Given the description of an element on the screen output the (x, y) to click on. 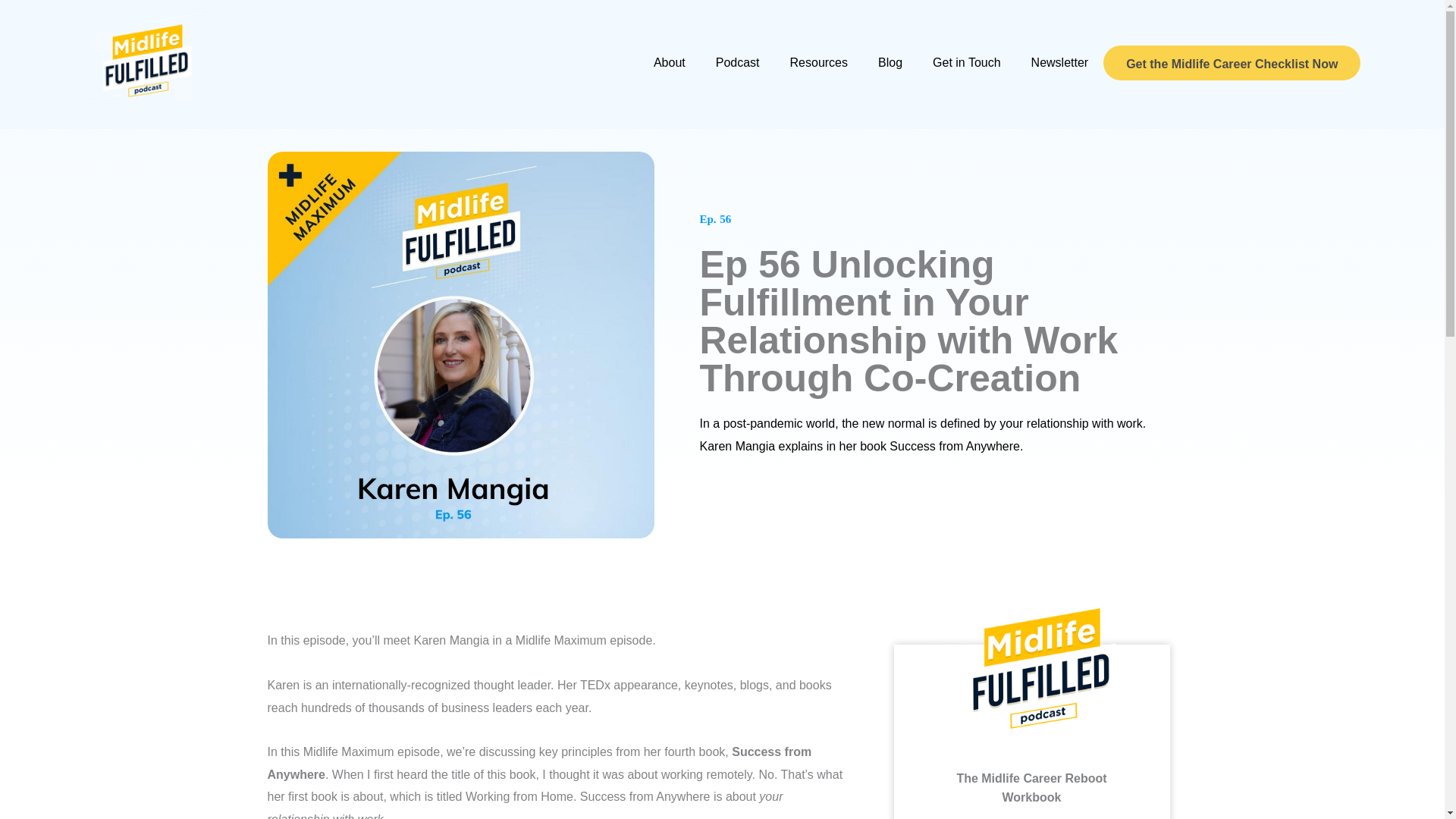
Newsletter (1059, 62)
About (669, 62)
Resources (818, 62)
Get the Midlife Career Checklist Now (1231, 62)
Podcast (737, 62)
Get in Touch (966, 62)
Blog (890, 62)
